Given the description of an element on the screen output the (x, y) to click on. 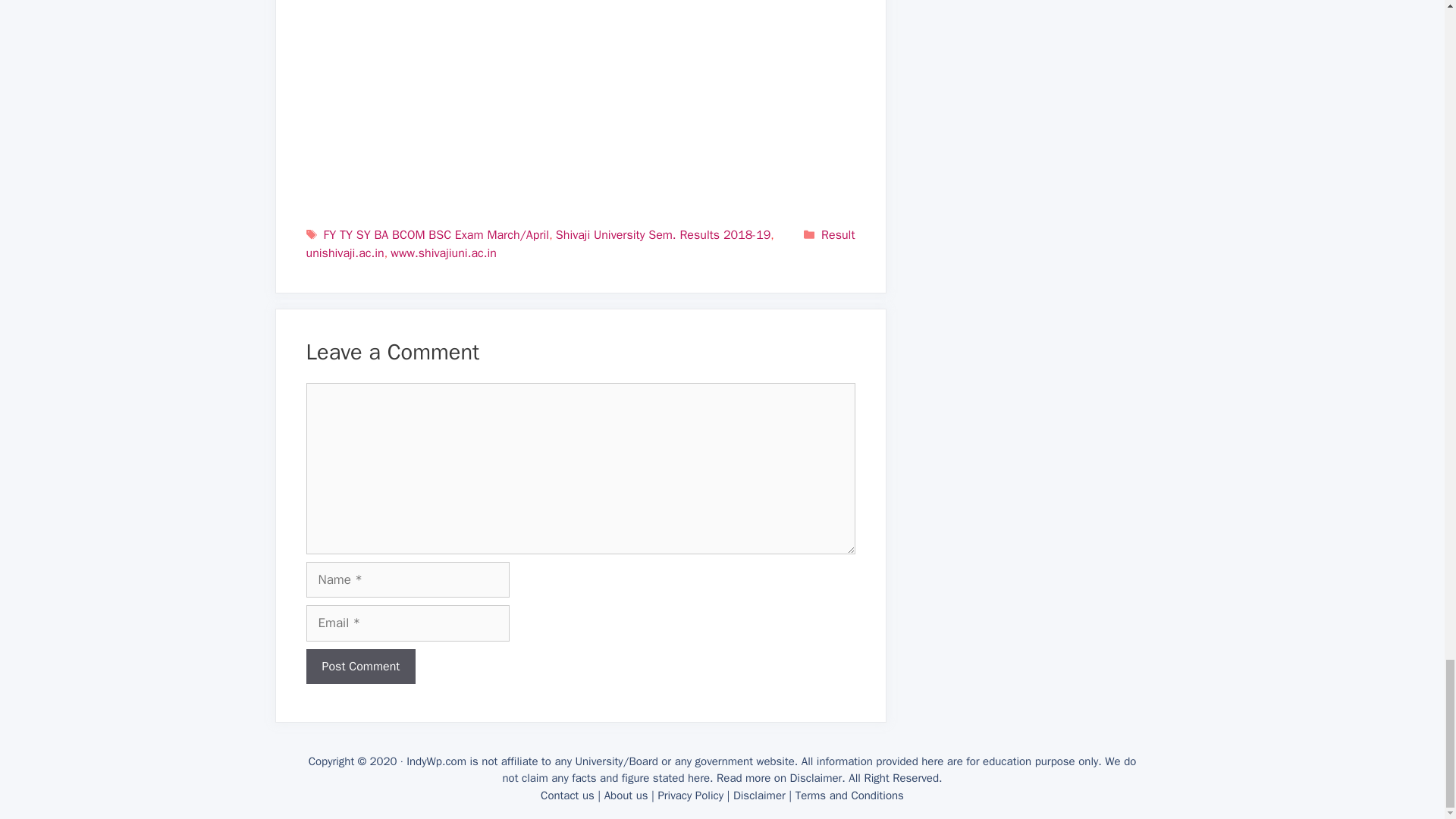
Result (837, 234)
Post Comment (360, 666)
unishivaji.ac.in (344, 253)
www.shivajiuni.ac.in (443, 253)
Shivaji University Sem. Results 2018-19 (663, 234)
Post Comment (360, 666)
